Given the description of an element on the screen output the (x, y) to click on. 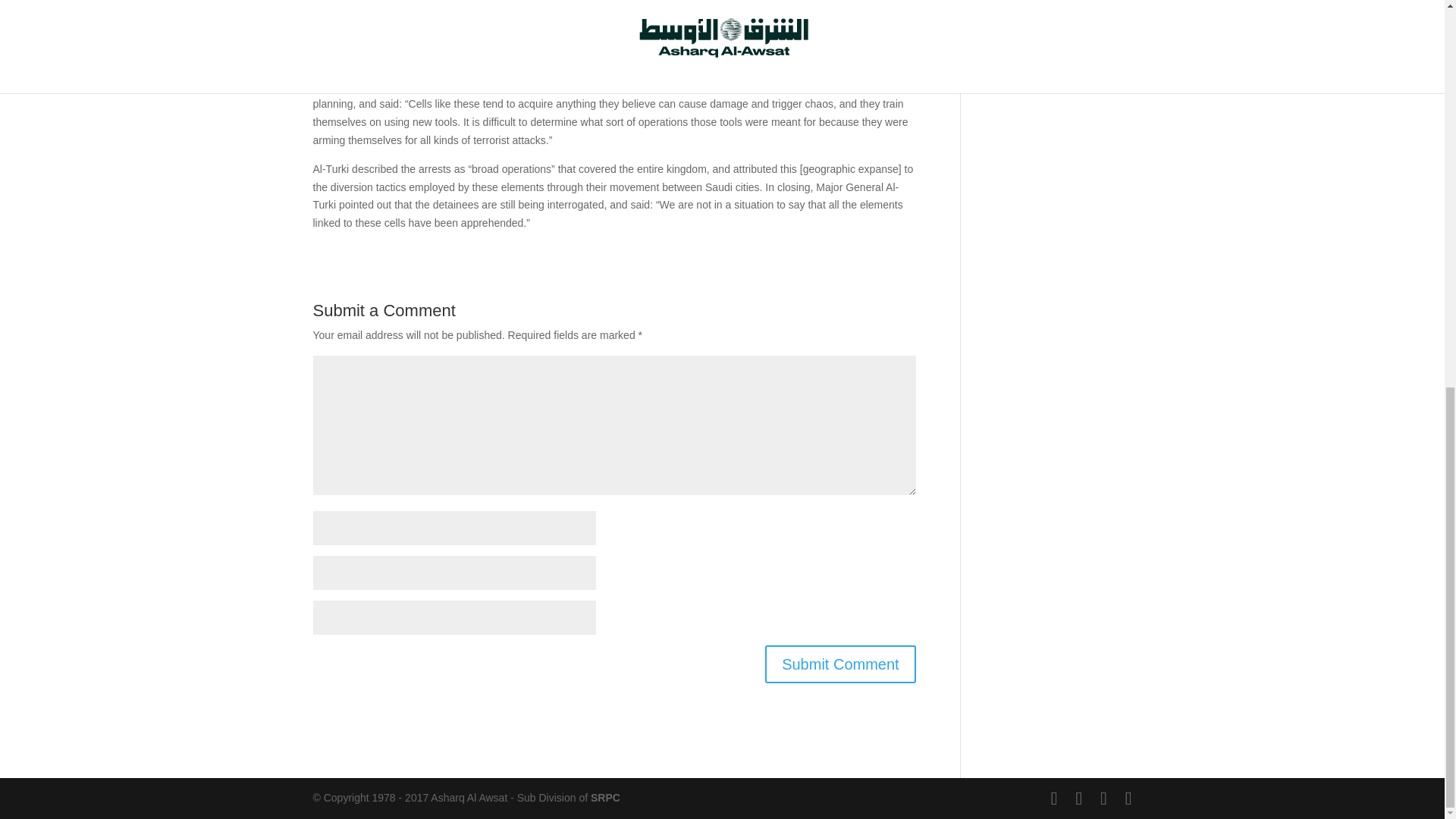
Submit Comment (840, 664)
SRPC (605, 797)
Submit Comment (840, 664)
